Given the description of an element on the screen output the (x, y) to click on. 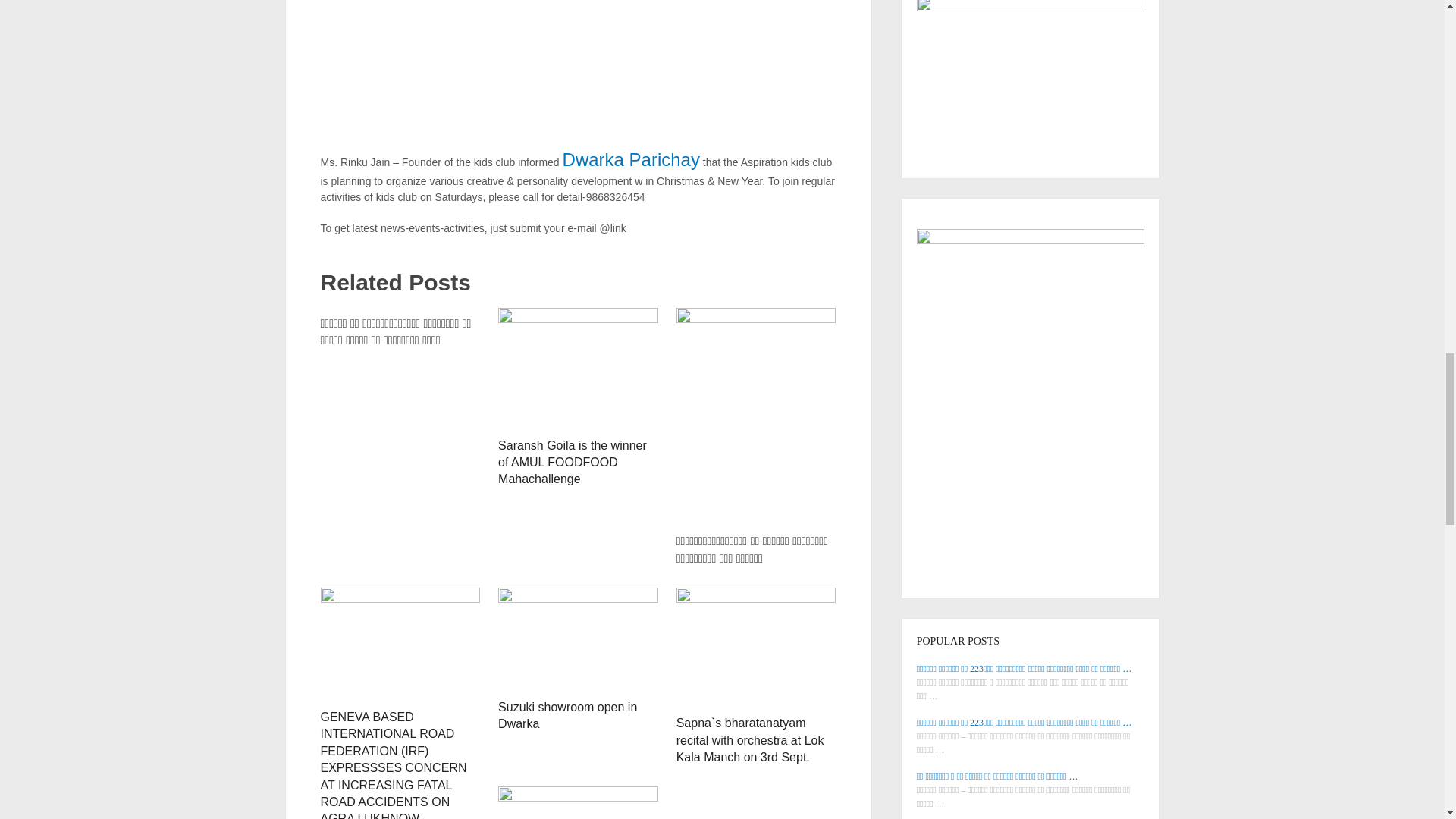
Saransh Goila is the winner of AMUL FOODFOOD Mahachallenge (577, 368)
Suzuki showroom open in Dwarka (577, 639)
Saransh Goila is the winner of AMUL FOODFOOD Mahachallenge (571, 461)
